Given the description of an element on the screen output the (x, y) to click on. 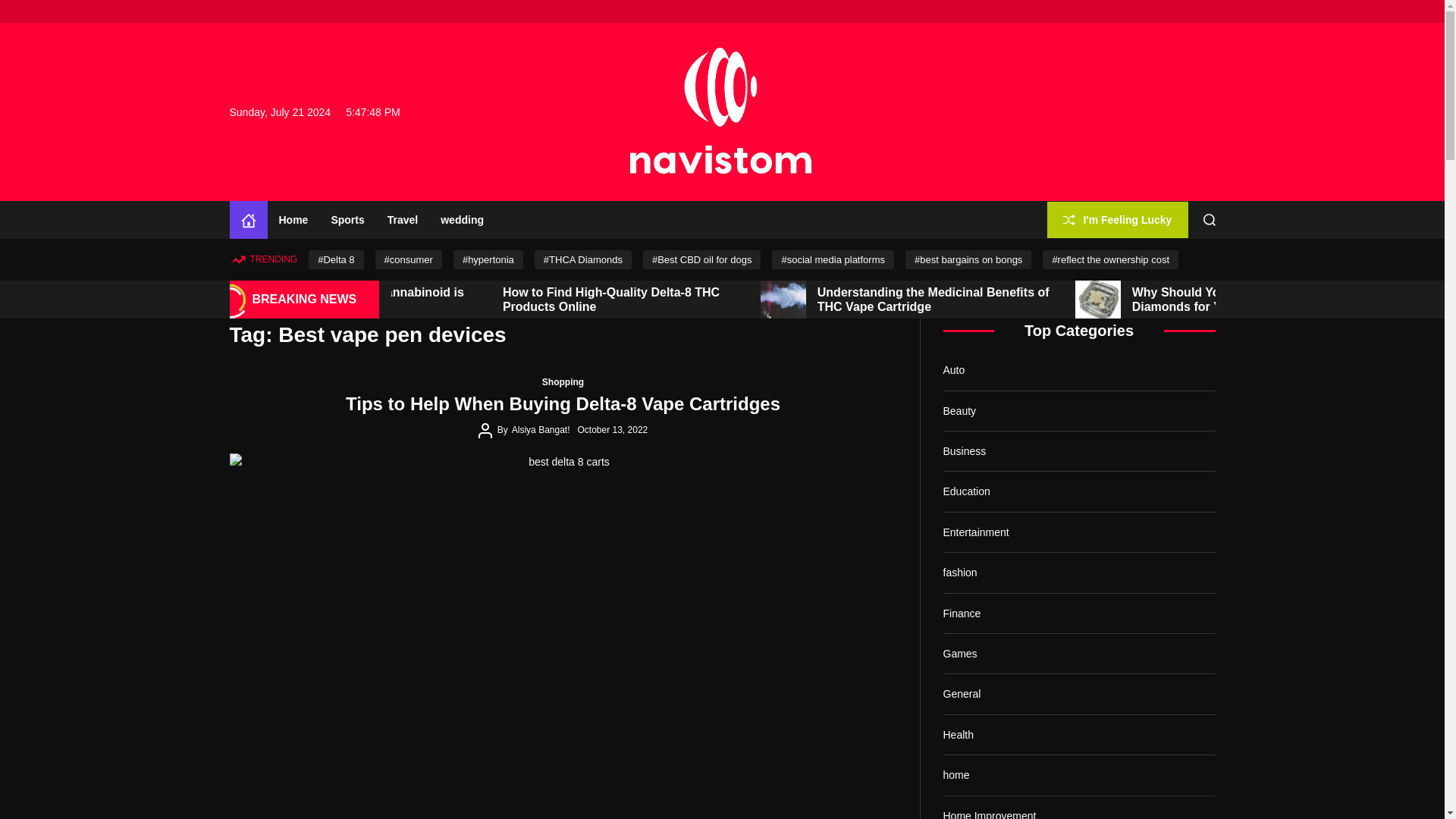
Home (292, 219)
Sports (346, 219)
Search (1209, 219)
How to Find High-Quality Delta-8 THC Products Online (814, 298)
Delta 8 or HHC: Which Cannabinoid is Right for You? (557, 298)
Travel (402, 219)
I'm Feeling Lucky (1117, 220)
Understanding the Medicinal Benefits of THC Vape Cartridge (1136, 298)
Home (247, 219)
wedding (462, 219)
